Given the description of an element on the screen output the (x, y) to click on. 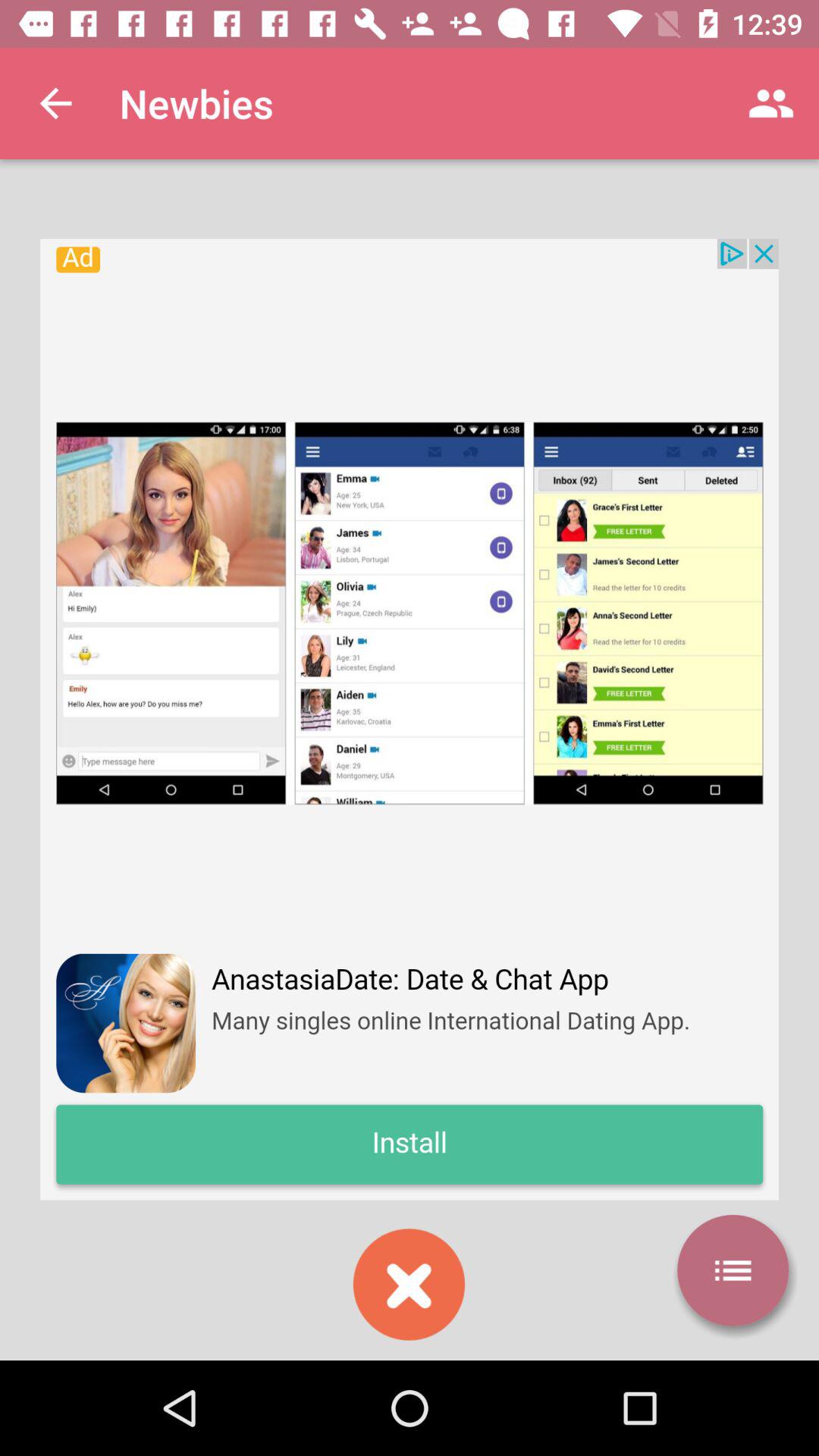
exit installation (409, 1284)
